Given the description of an element on the screen output the (x, y) to click on. 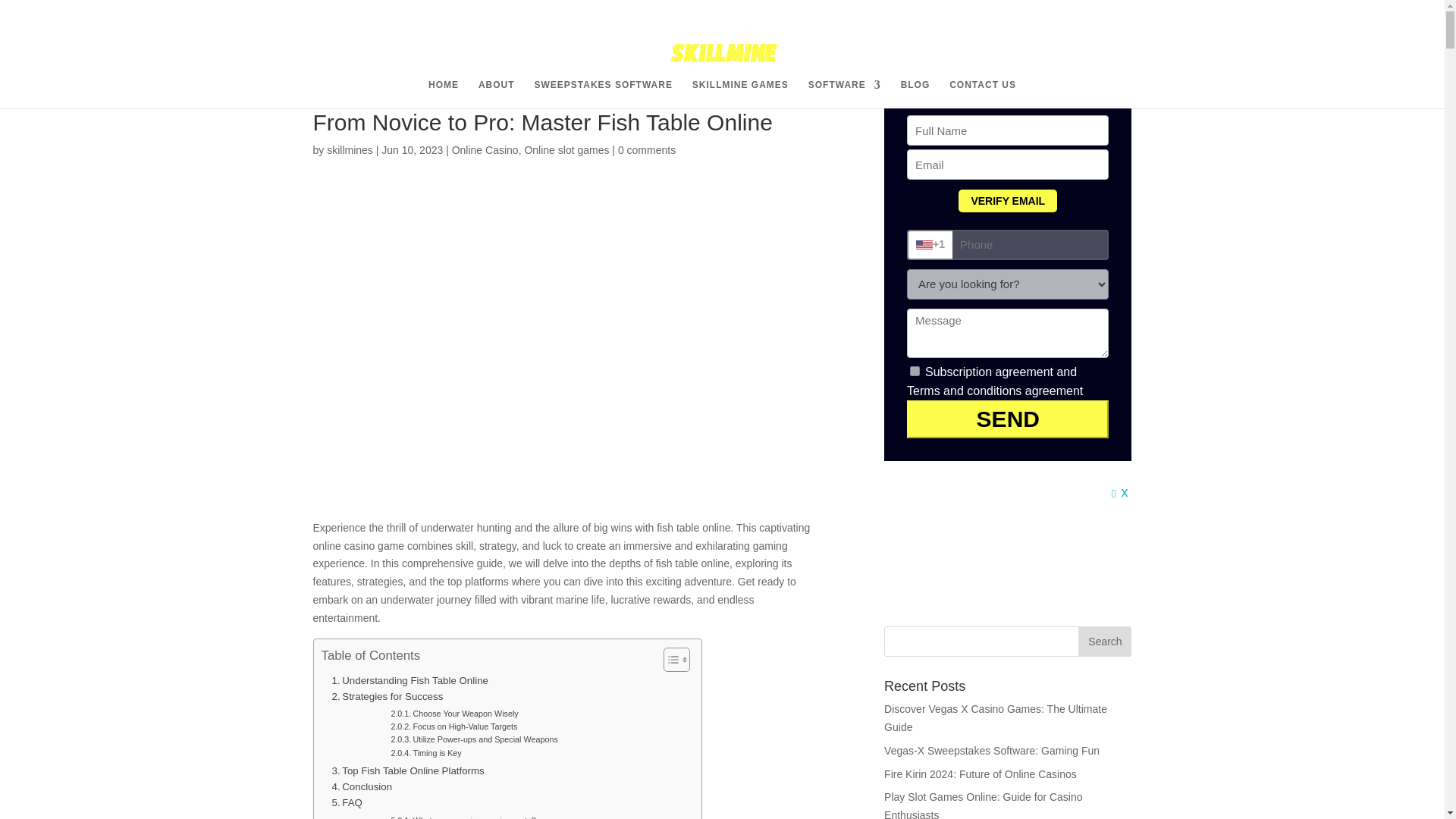
Understanding Fish Table Online (409, 679)
Utilize Power-ups and Special Weapons (473, 739)
Strategies for Success (387, 696)
Terms and conditions (964, 390)
Focus on High-Value Targets (453, 726)
Conclusion (362, 786)
Search (1104, 641)
Send (1007, 419)
Conclusion (362, 786)
BLOG (915, 93)
Utilize Power-ups and Special Weapons (473, 739)
Choose Your Weapon Wisely (454, 713)
Top Fish Table Online Platforms (407, 770)
Timing is Key (425, 753)
What are wagering requirements? (462, 816)
